Given the description of an element on the screen output the (x, y) to click on. 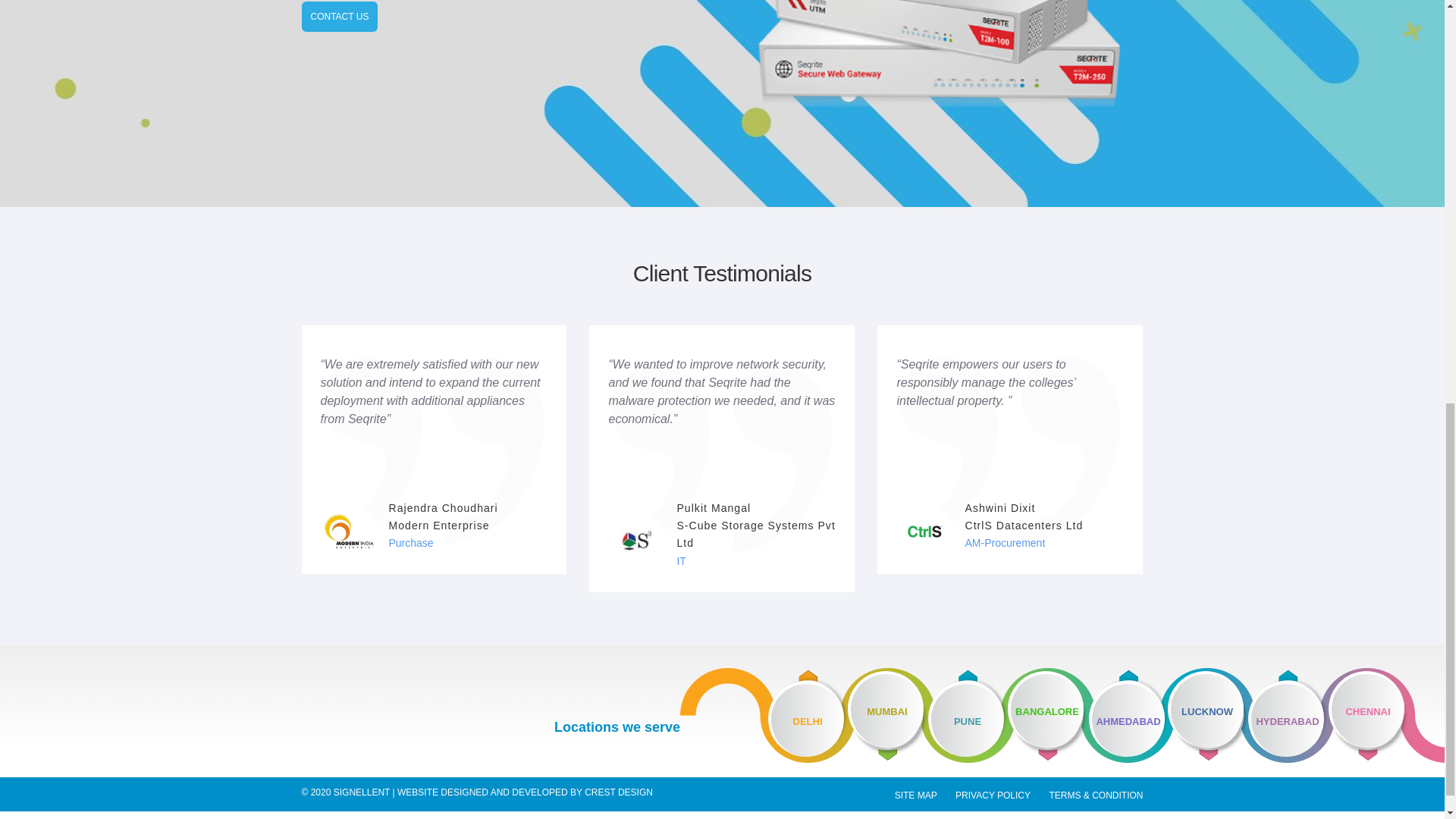
Locations we serve (616, 727)
AHMEDABAD (1128, 715)
PUNE (967, 715)
CONTACT US (339, 16)
DELHI (807, 715)
MUMBAI (887, 714)
LUCKNOW (1207, 714)
BANGALORE (1048, 714)
HYDERABAD (1287, 715)
CHENNAI (1385, 715)
